Given the description of an element on the screen output the (x, y) to click on. 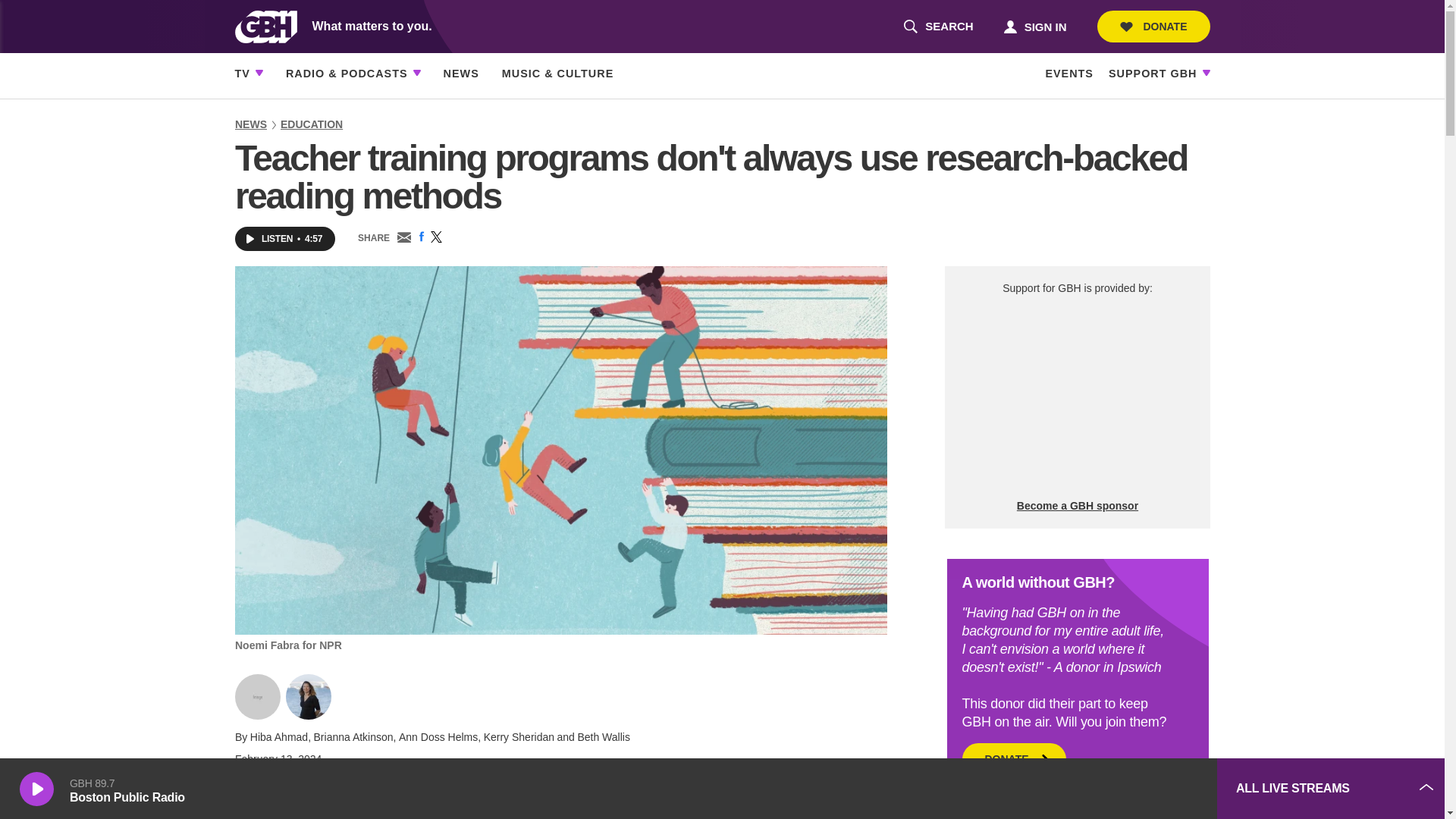
3rd party ad content (1076, 397)
SIGN IN (1034, 25)
DONATE (937, 26)
3rd party ad content (1153, 26)
